Given the description of an element on the screen output the (x, y) to click on. 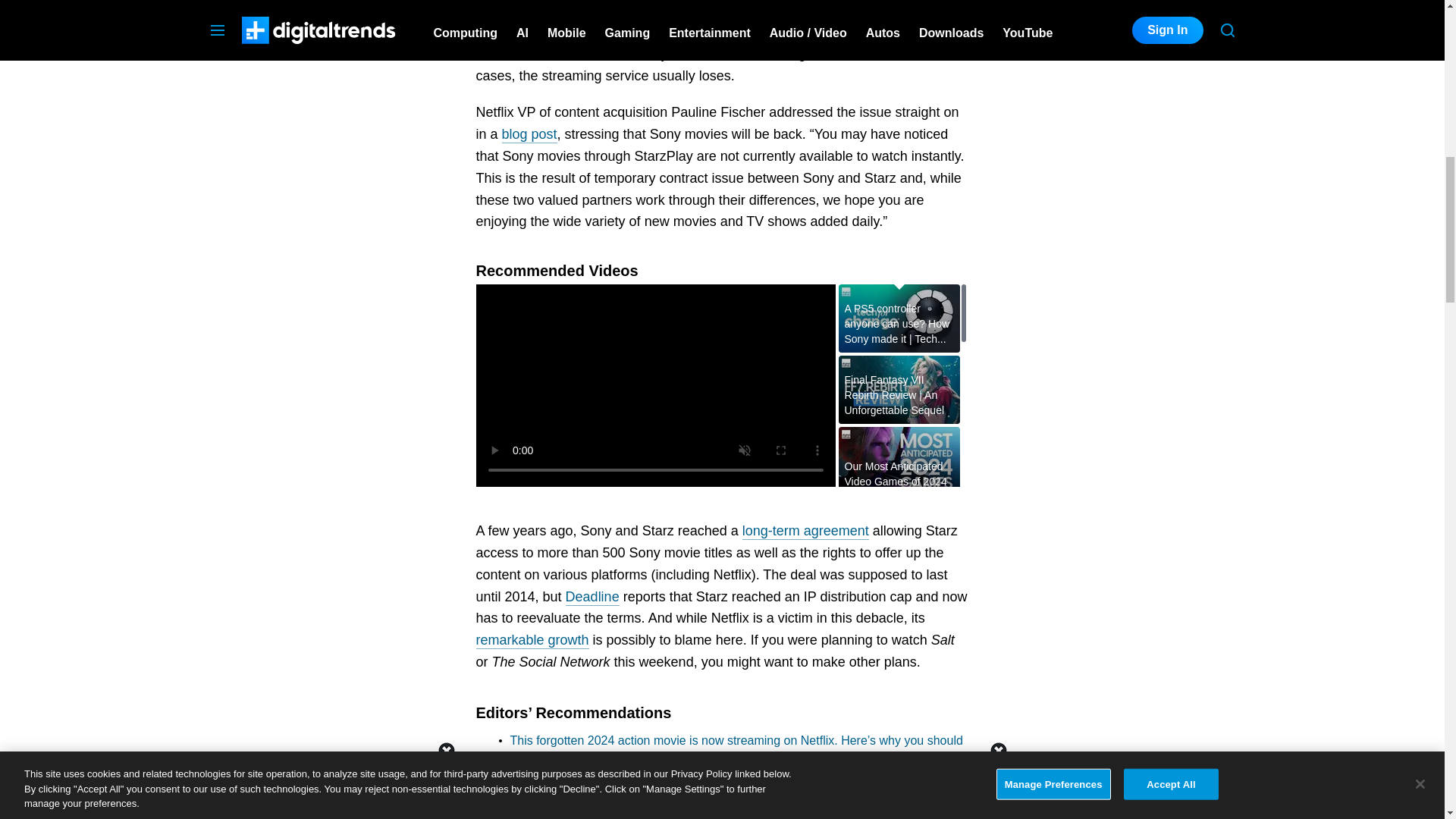
3rd party ad content (1120, 41)
